Given the description of an element on the screen output the (x, y) to click on. 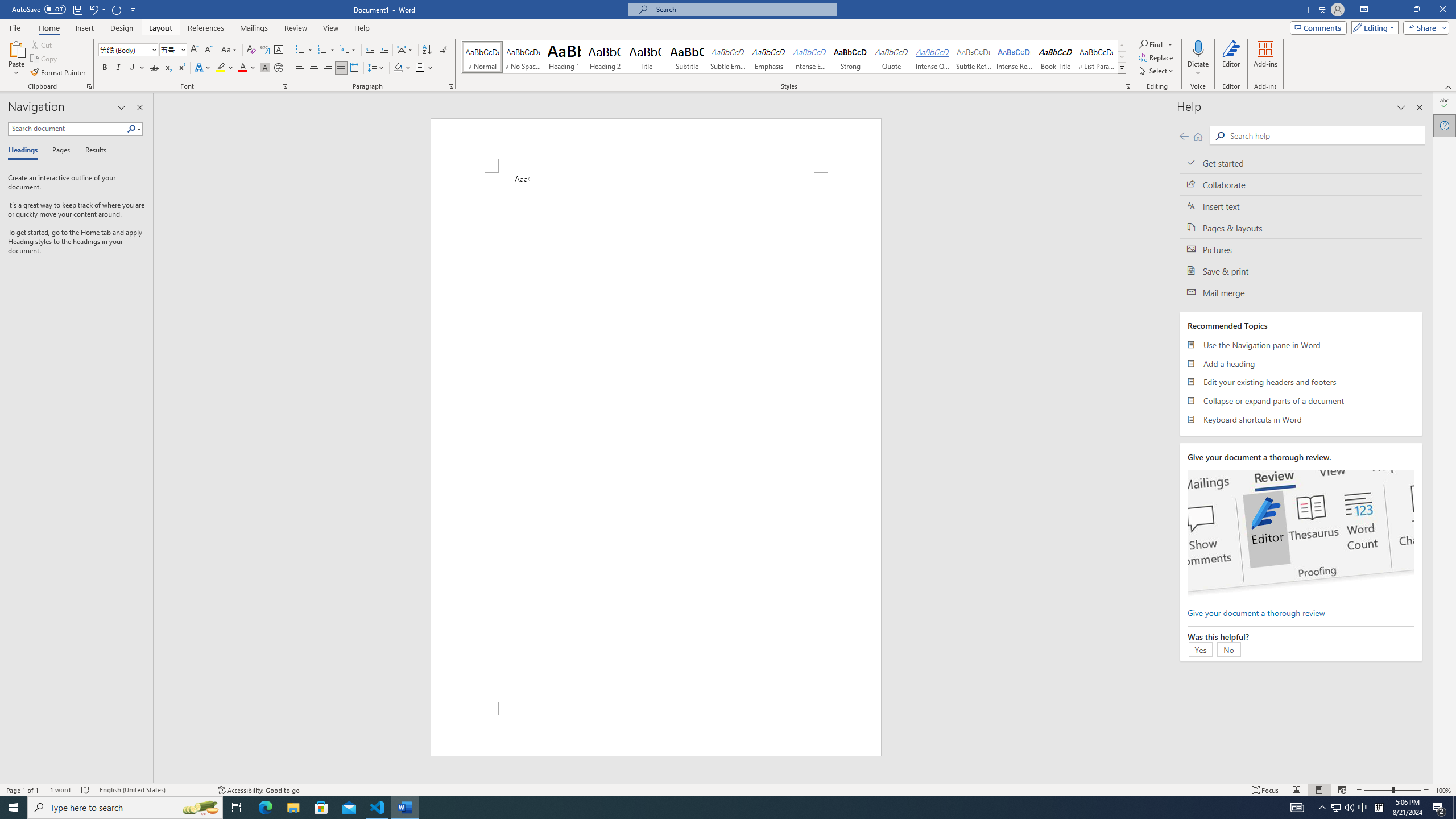
Styles (1121, 67)
Align Right (327, 67)
Font Color (246, 67)
Heading 1 (564, 56)
Superscript (180, 67)
Replace... (1156, 56)
Add a heading (1300, 363)
Line and Paragraph Spacing (376, 67)
